Given the description of an element on the screen output the (x, y) to click on. 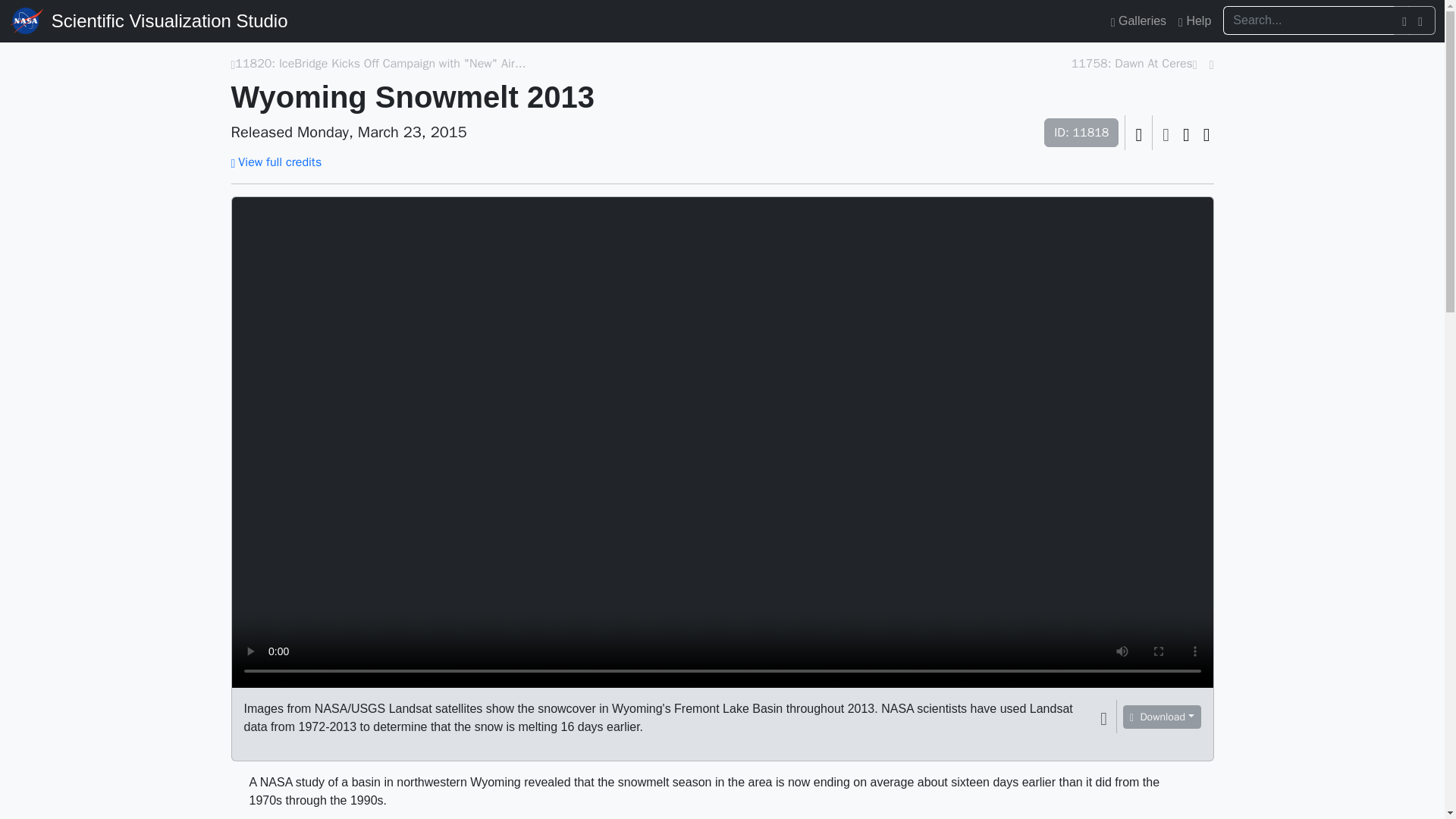
Download (1160, 716)
Help (1194, 20)
Galleries (1138, 20)
11758: Dawn At Ceres (1131, 63)
Scientific Visualization Studio (169, 21)
11820: IceBridge Kicks Off Campaign with "New" Air... (379, 63)
View full credits (275, 162)
Search! (1422, 20)
